Given the description of an element on the screen output the (x, y) to click on. 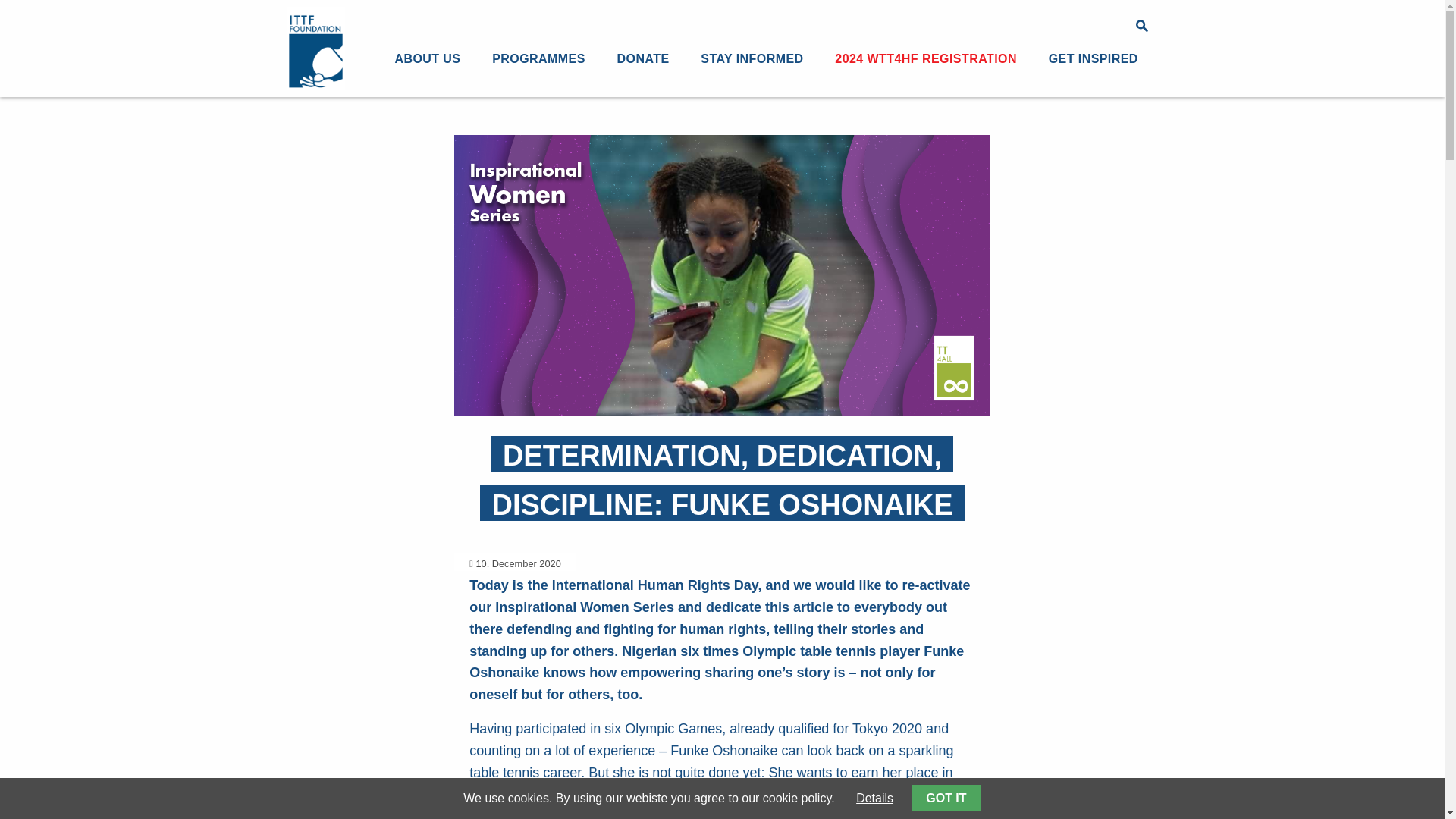
ABOUT US (427, 61)
PROGRAMMES (538, 61)
Details (874, 797)
